Given the description of an element on the screen output the (x, y) to click on. 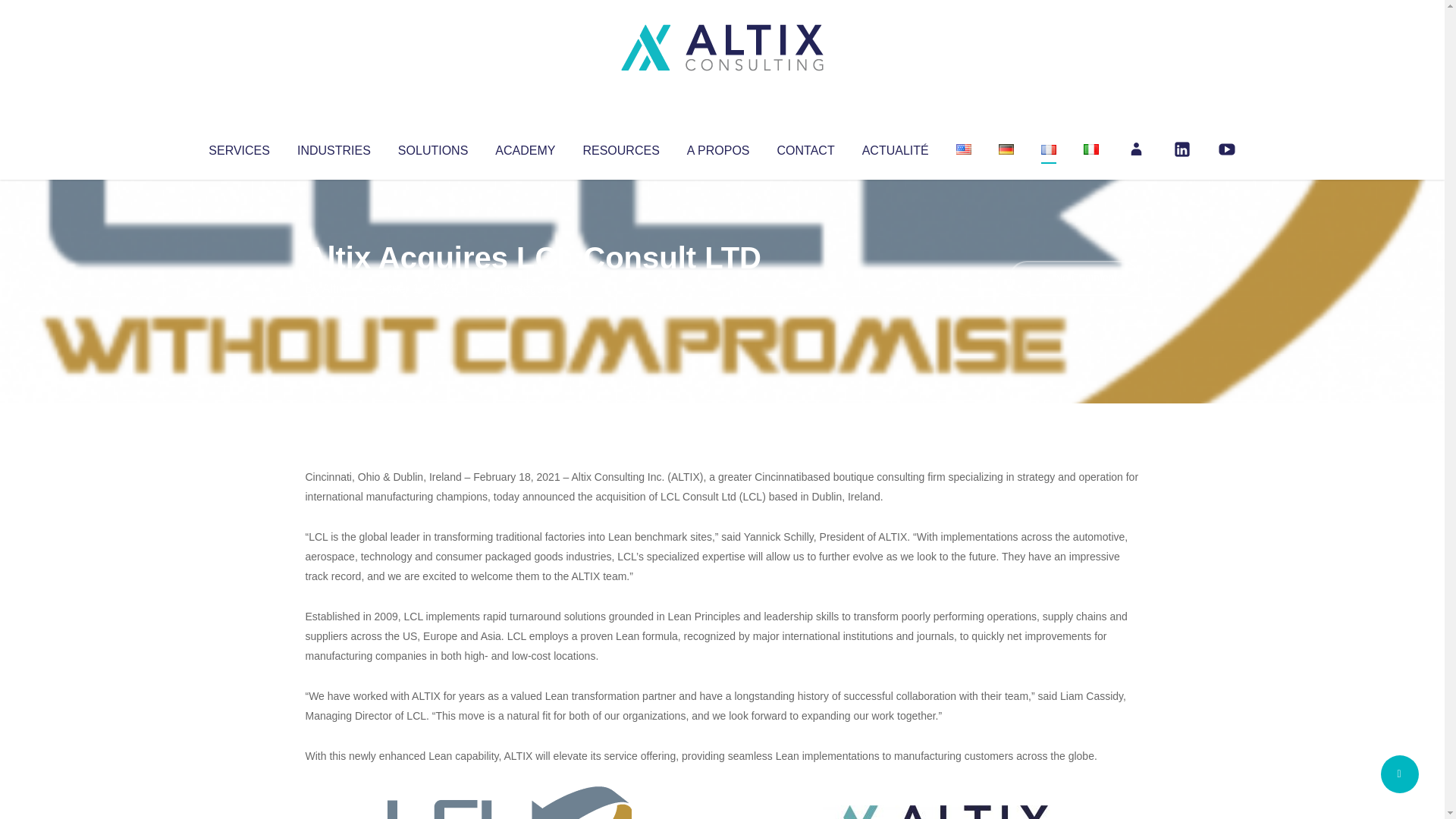
Uncategorized (530, 287)
INDUSTRIES (334, 146)
Articles par Altix (333, 287)
A PROPOS (718, 146)
SERVICES (238, 146)
SOLUTIONS (432, 146)
ACADEMY (524, 146)
Altix (333, 287)
No Comments (1073, 278)
RESOURCES (620, 146)
